Given the description of an element on the screen output the (x, y) to click on. 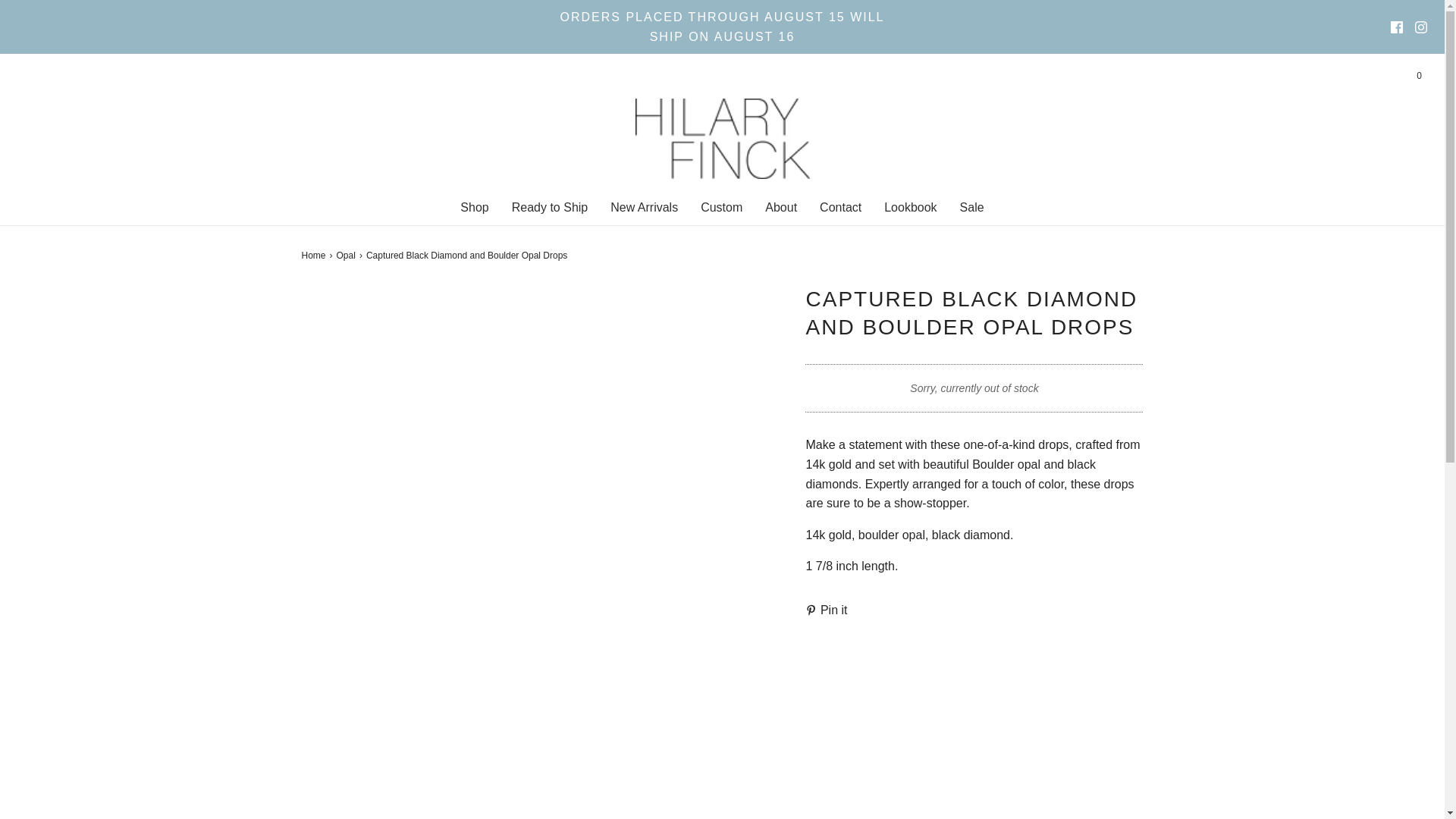
FACEBOOK ICON (1396, 27)
FACEBOOK ICON (1396, 27)
INSTAGRAM ICON (1420, 27)
ORDERS PLACED THROUGH AUGUST 15 WILL SHIP ON AUGUST 16 (721, 36)
INSTAGRAM ICON (1420, 27)
Back to the frontpage (315, 255)
